Given the description of an element on the screen output the (x, y) to click on. 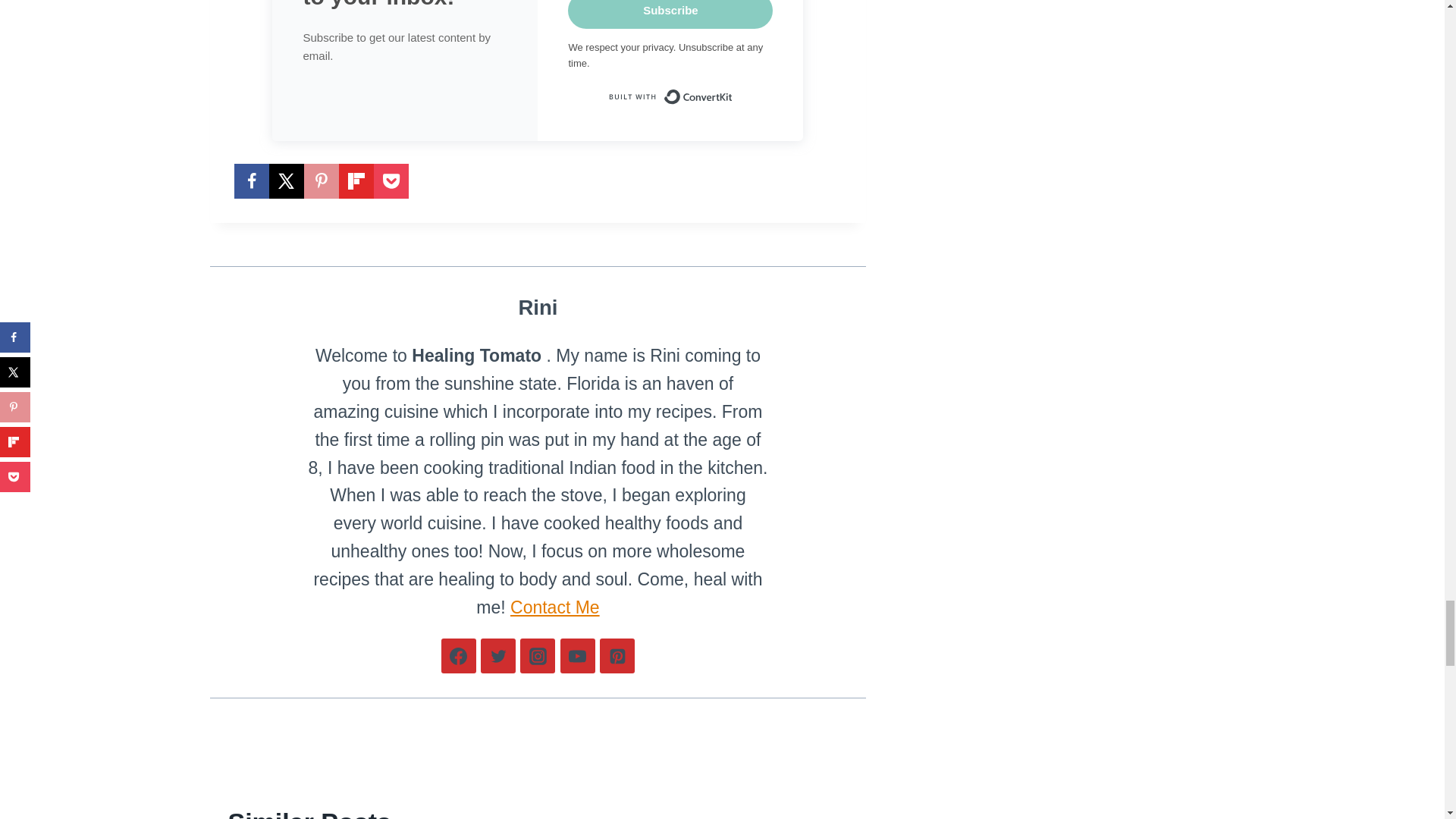
Share on Facebook (249, 181)
Share on Flipboard (354, 181)
Share on X (284, 181)
Save to Pinterest (319, 181)
